Given the description of an element on the screen output the (x, y) to click on. 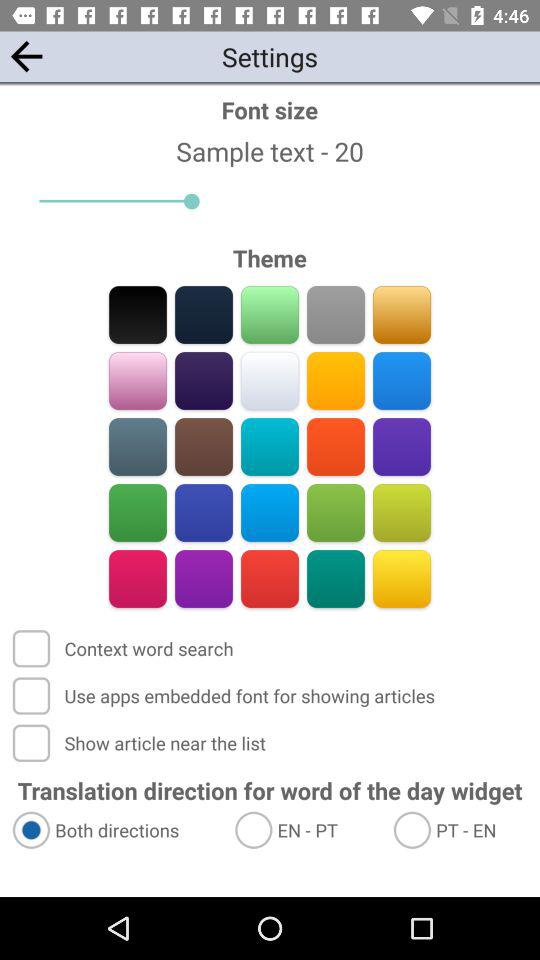
color selection (335, 512)
